Given the description of an element on the screen output the (x, y) to click on. 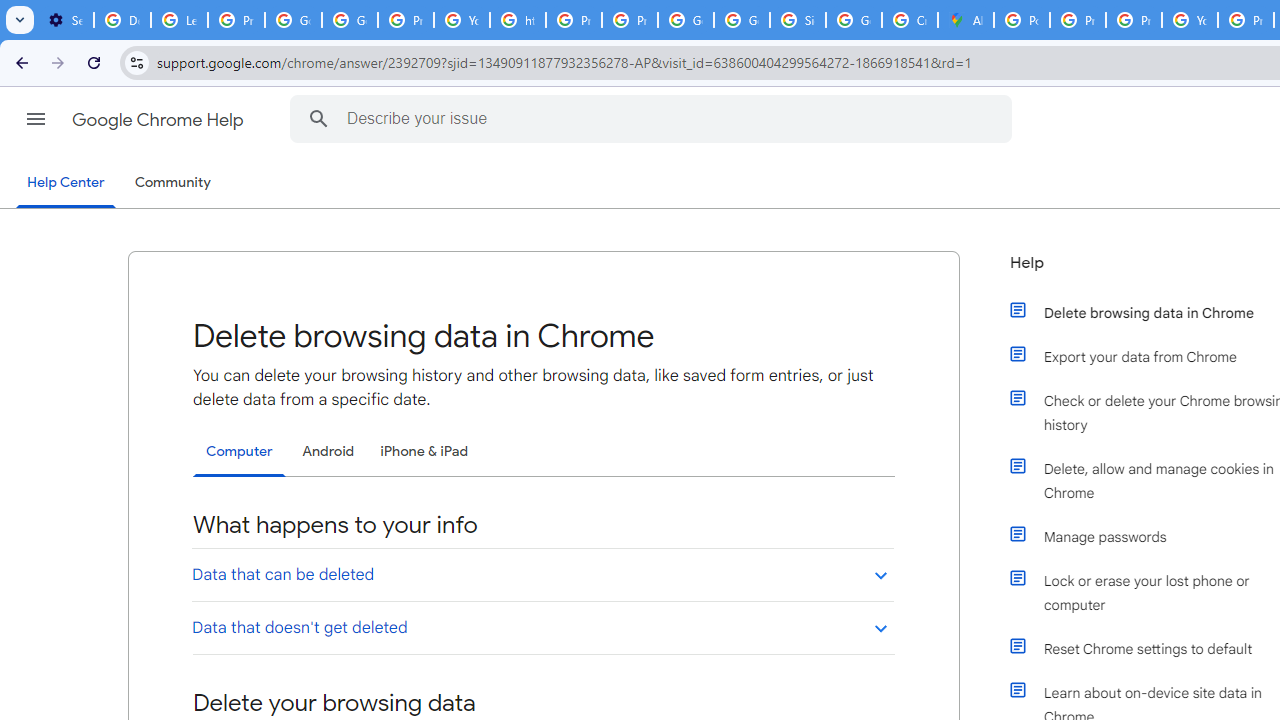
Privacy Help Center - Policies Help (1133, 20)
Describe your issue (653, 118)
Google Chrome Help (159, 119)
Sign in - Google Accounts (797, 20)
Help Center (65, 183)
